Given the description of an element on the screen output the (x, y) to click on. 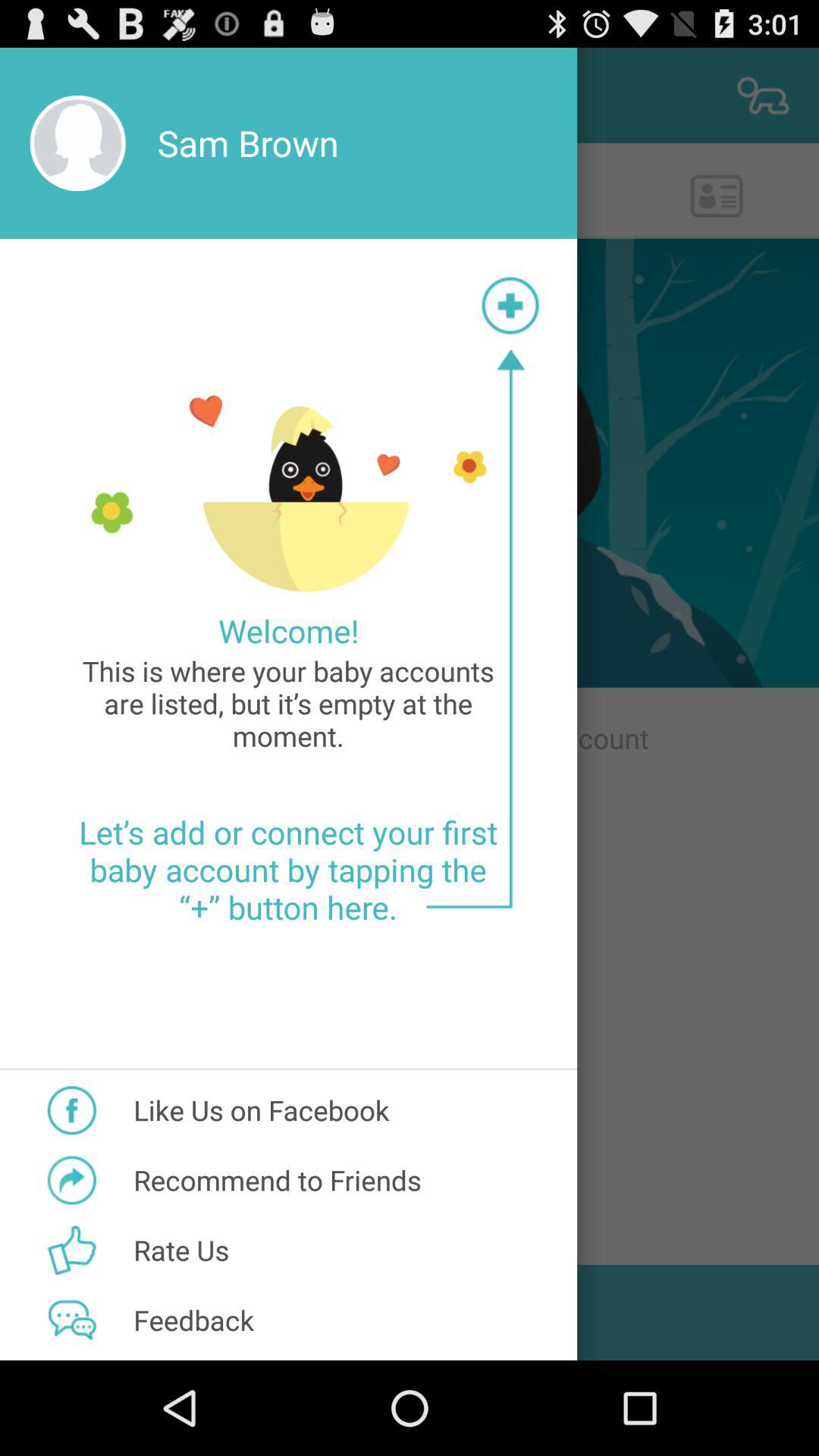
select the pic icon on the top (763, 95)
